Given the description of an element on the screen output the (x, y) to click on. 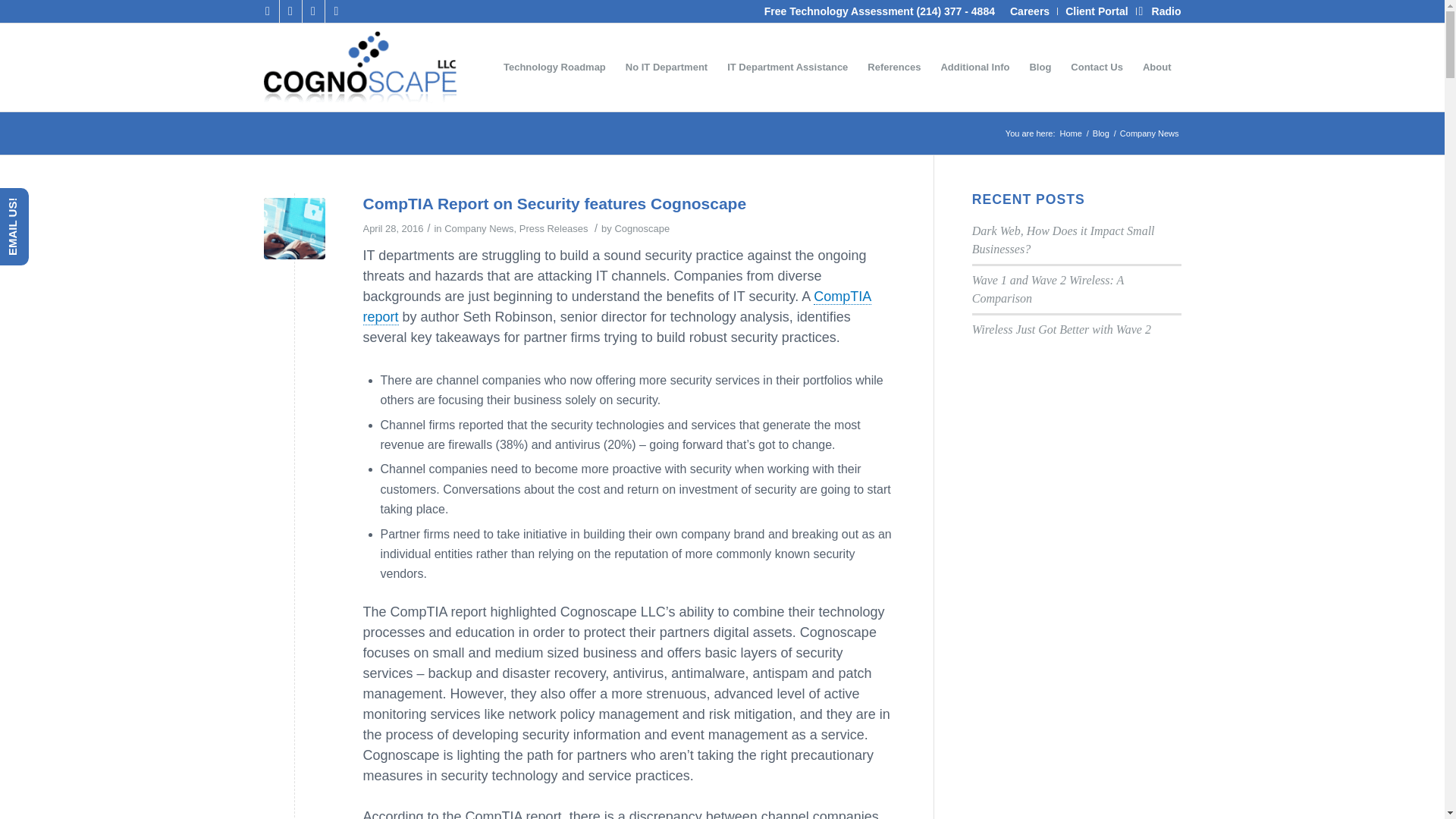
CompTIA Report on Security features Cognoscape (553, 203)
No IT Department (666, 67)
IT Department Assistance (787, 67)
Careers (1029, 11)
Posts by Cognoscape (641, 228)
LinkedIn (335, 11)
Home (1070, 133)
Blog (1101, 133)
Technology Roadmap (554, 67)
Cognoscape (641, 228)
Client Portal (1095, 11)
Blog (1101, 133)
Additional Info (974, 67)
Twitter (290, 11)
